Given the description of an element on the screen output the (x, y) to click on. 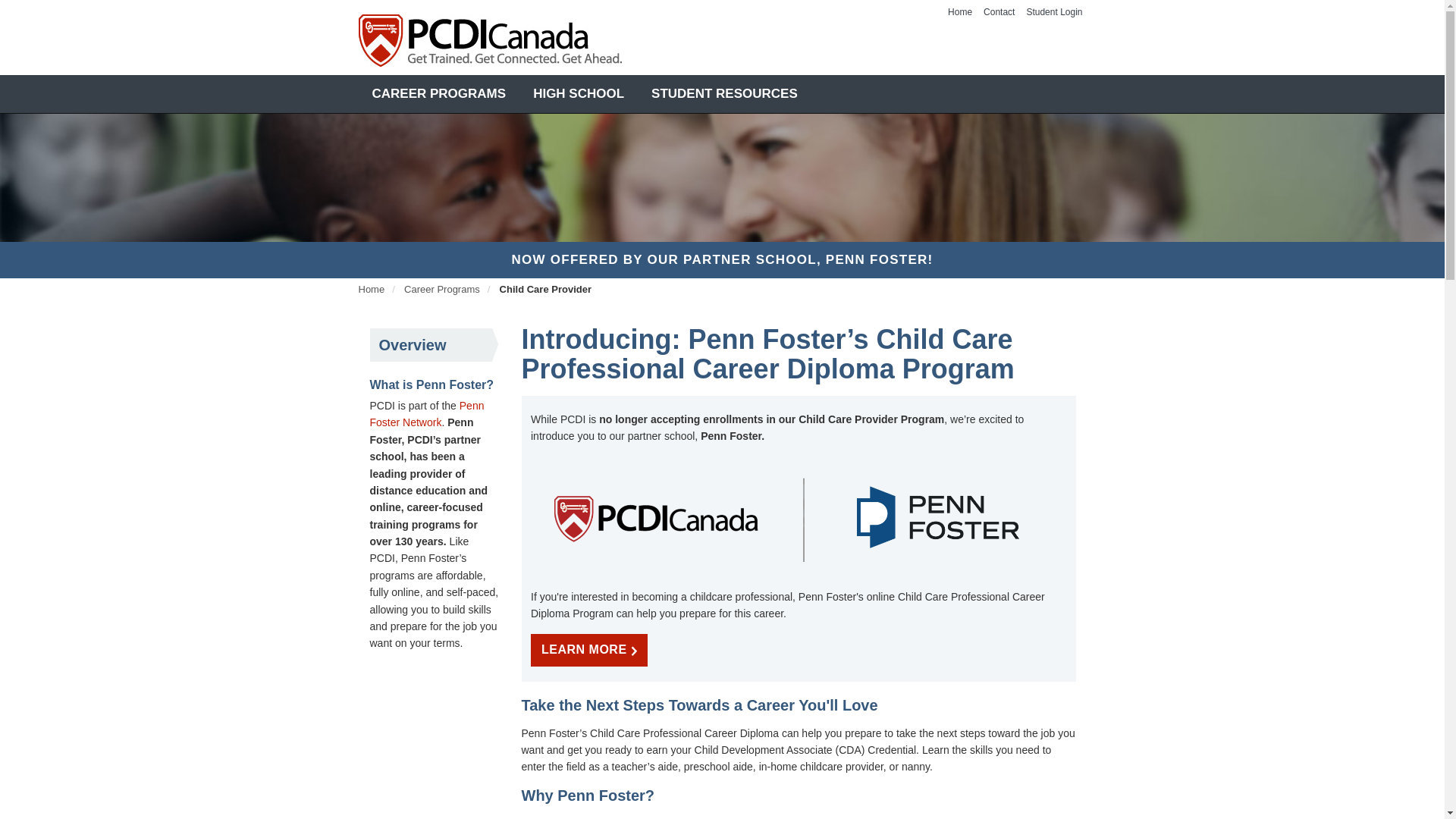
LEARN MORE   (589, 649)
Home (371, 288)
Student Login (1054, 11)
Contact (998, 11)
Career Programs (442, 288)
HIGH SCHOOL (578, 94)
PCDI Canada (489, 40)
Home (959, 11)
CAREER PROGRAMS (438, 94)
Home (959, 11)
Contact (998, 11)
Student Login (1054, 11)
STUDENT RESOURCES (723, 94)
Career Programs (438, 94)
